Given the description of an element on the screen output the (x, y) to click on. 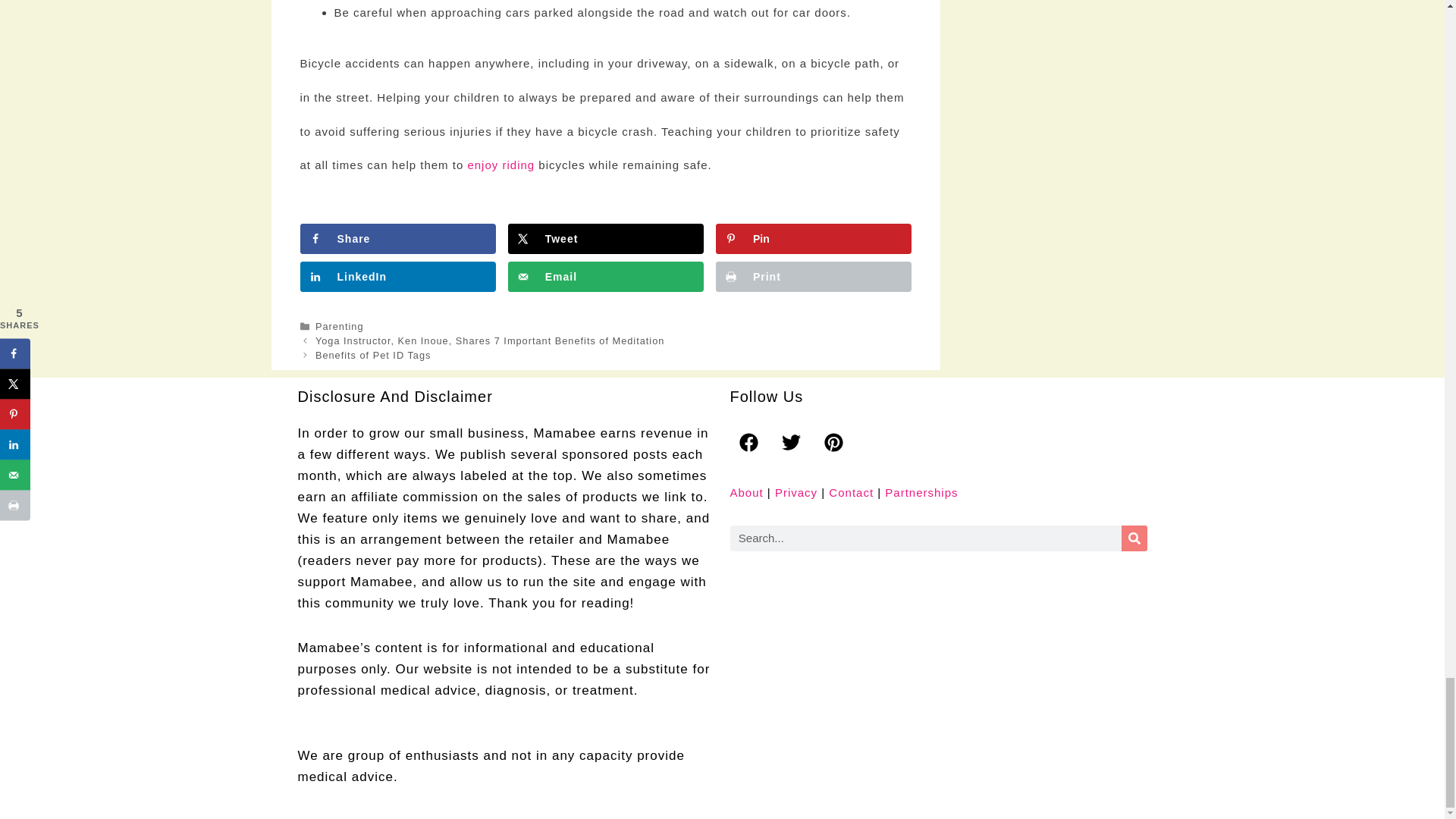
Share on X (605, 238)
Share on LinkedIn (397, 276)
Save to Pinterest (813, 238)
Print this webpage (813, 276)
Send over email (605, 276)
Share on Facebook (397, 238)
